Given the description of an element on the screen output the (x, y) to click on. 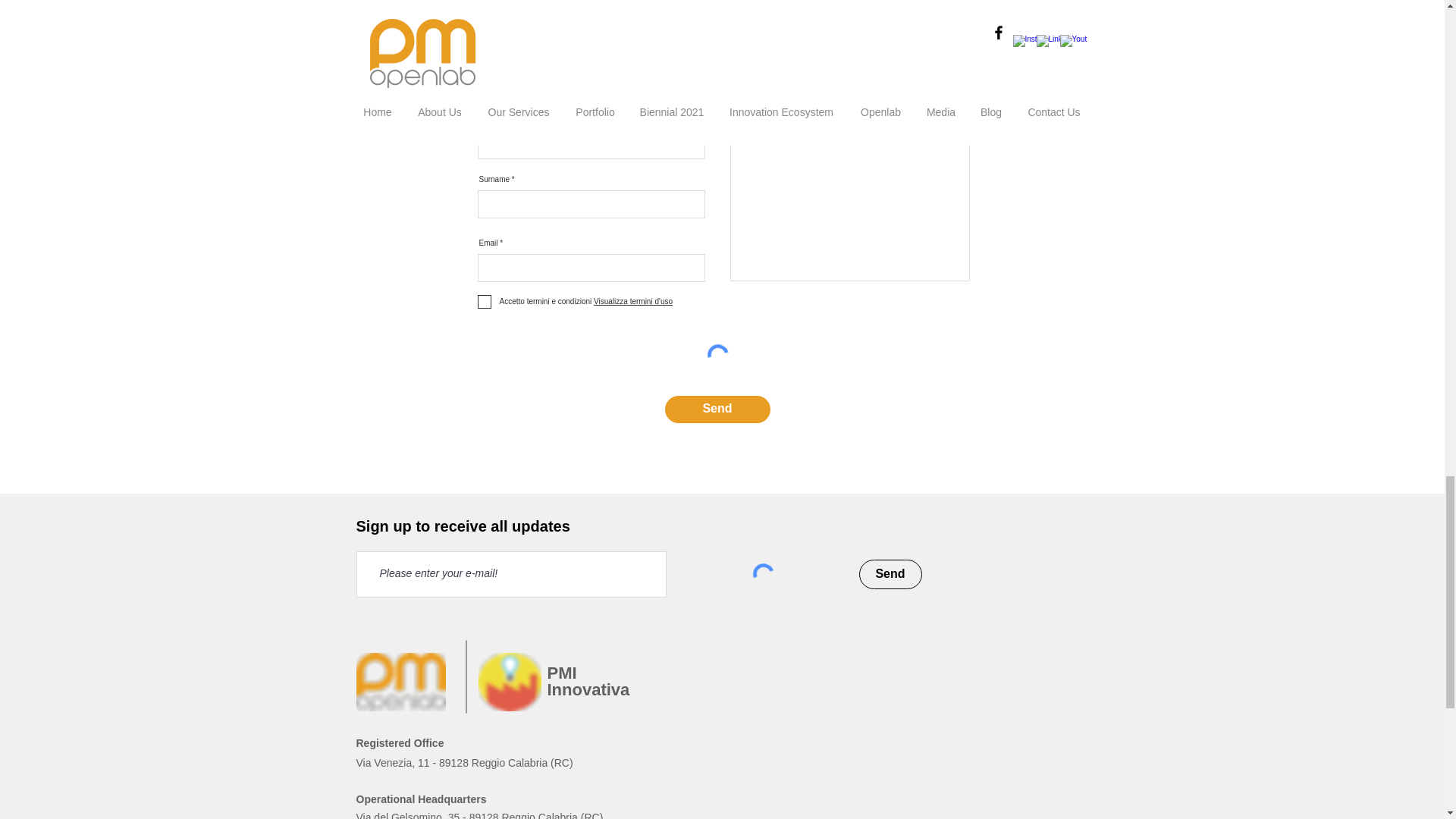
logo pmi innovative (508, 681)
Visualizza termini d'uso (631, 301)
Send (716, 409)
Send (890, 573)
Logo PMopenlab (400, 681)
